Given the description of an element on the screen output the (x, y) to click on. 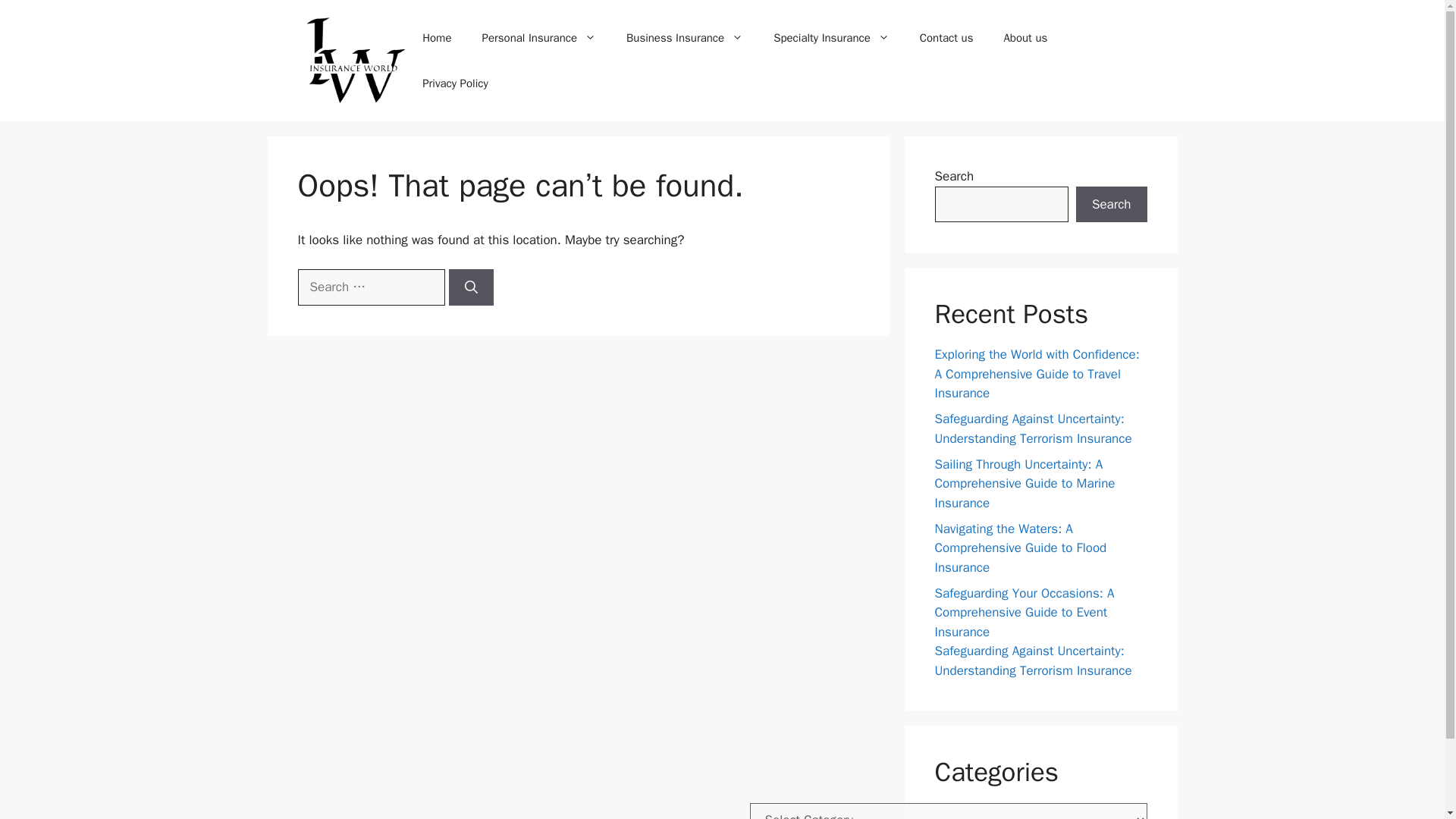
Contact us (946, 37)
Home (436, 37)
About us (1025, 37)
Privacy Policy (455, 83)
Search (1111, 204)
Personal Insurance (539, 37)
Specialty Insurance (831, 37)
Business Insurance (684, 37)
Search for: (370, 287)
